Given the description of an element on the screen output the (x, y) to click on. 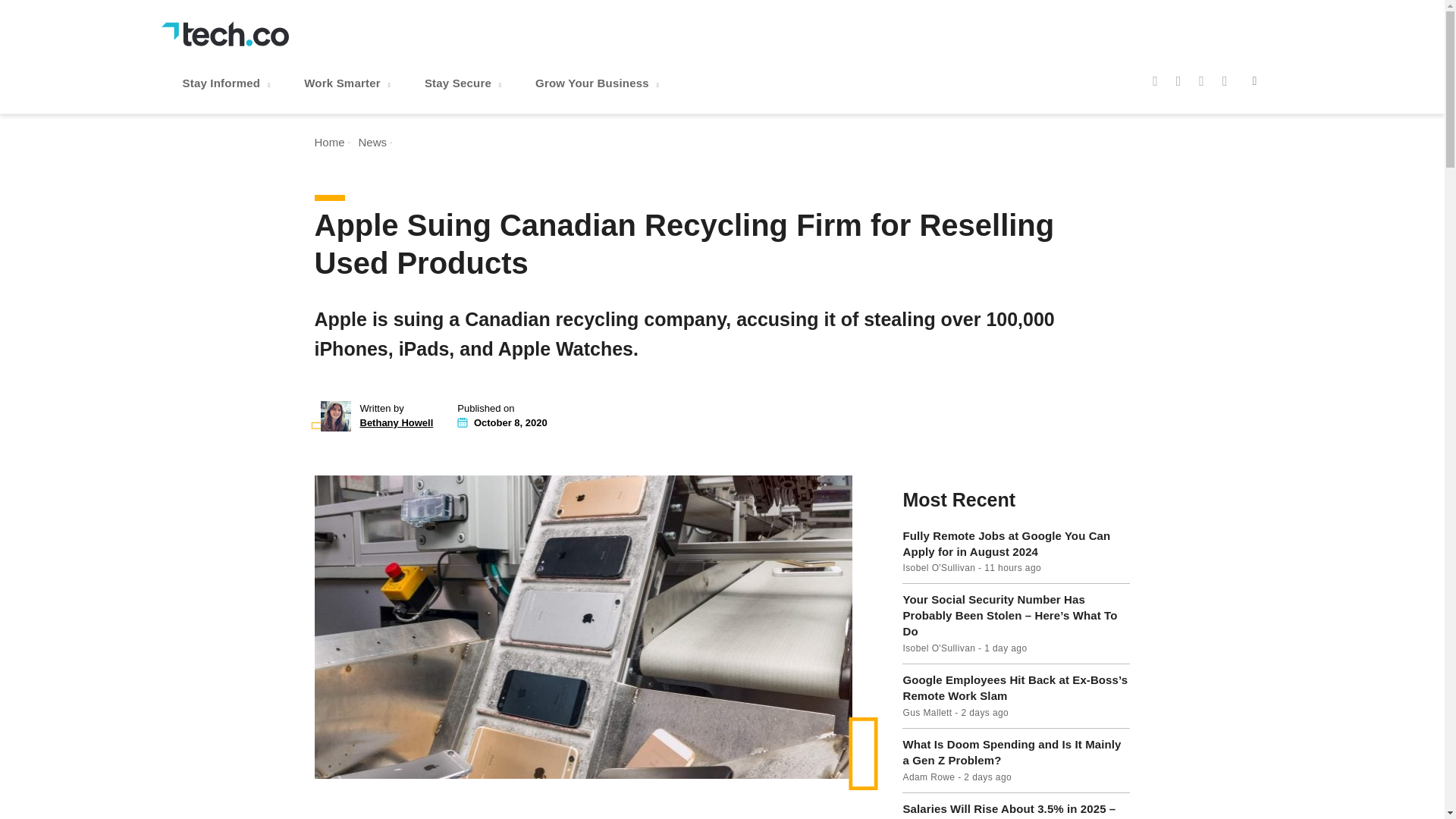
Stay Informed (227, 83)
Work Smarter (348, 83)
Stay Secure (464, 83)
Grow Your Business (598, 83)
